Given the description of an element on the screen output the (x, y) to click on. 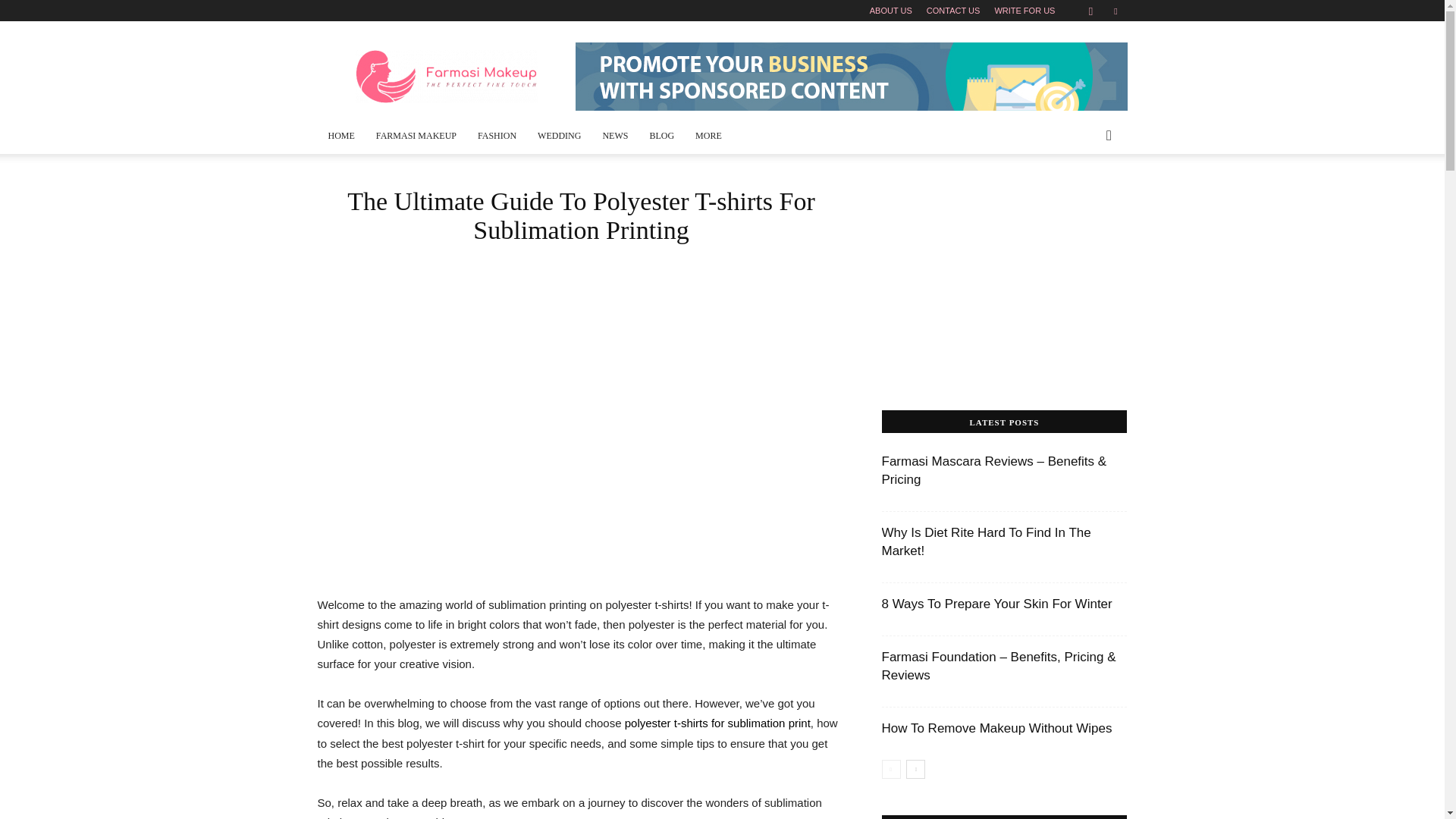
WRITE FOR US (1024, 10)
FARMASI MAKEUP (416, 135)
HOME (341, 135)
Instagram (1090, 10)
CONTACT US (952, 10)
Pinterest (1114, 10)
ABOUT US (890, 10)
